Given the description of an element on the screen output the (x, y) to click on. 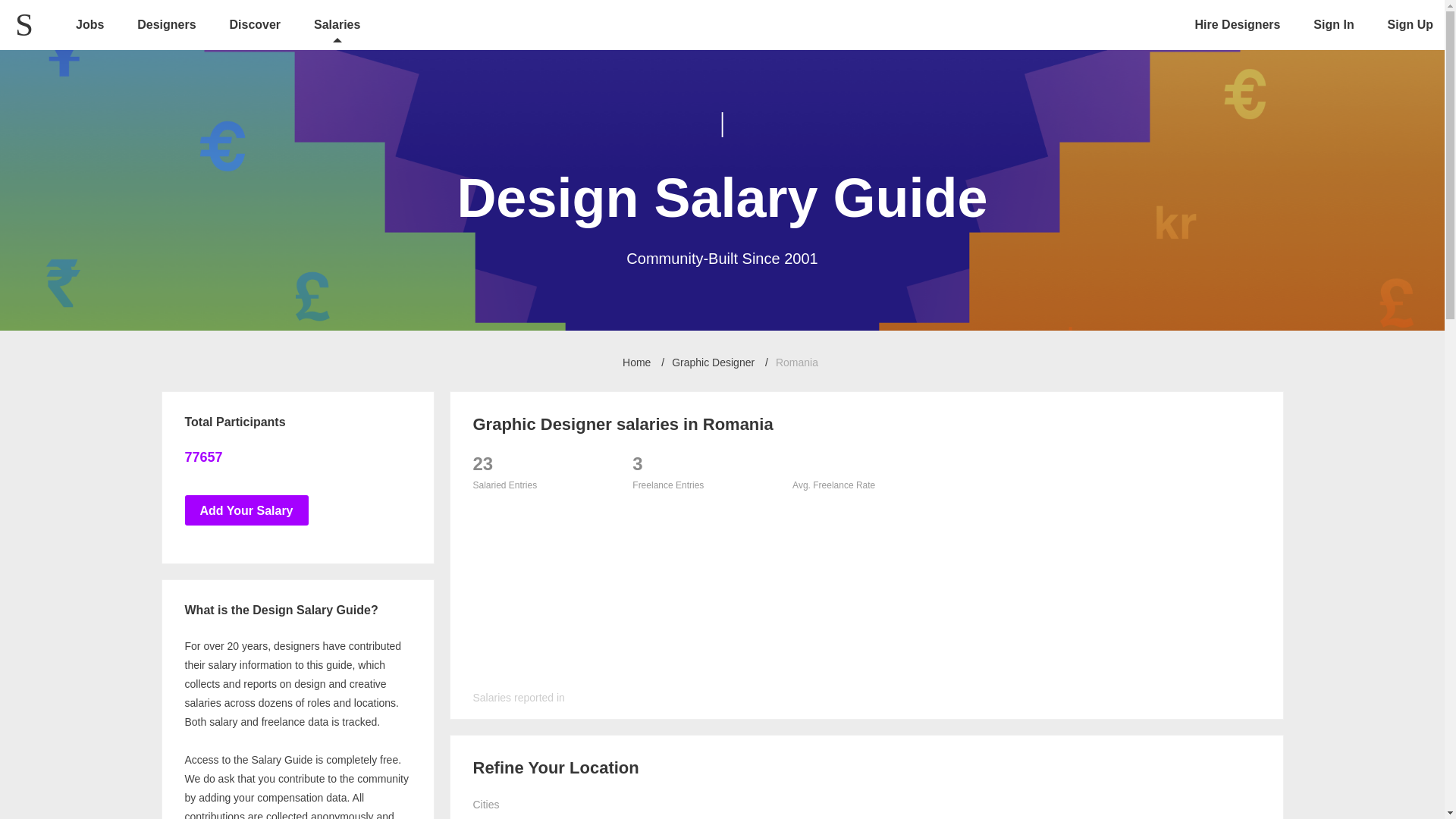
Graphic Designer (712, 362)
Home (636, 362)
Romania (797, 362)
Sign Up (1409, 24)
Coroflot (37, 13)
Cities (503, 804)
Sign In (1333, 24)
Discover (254, 25)
Add Your Salary (246, 510)
Hire Designers (1238, 24)
Salaries (336, 25)
Designers (165, 25)
Jobs (89, 25)
